Given the description of an element on the screen output the (x, y) to click on. 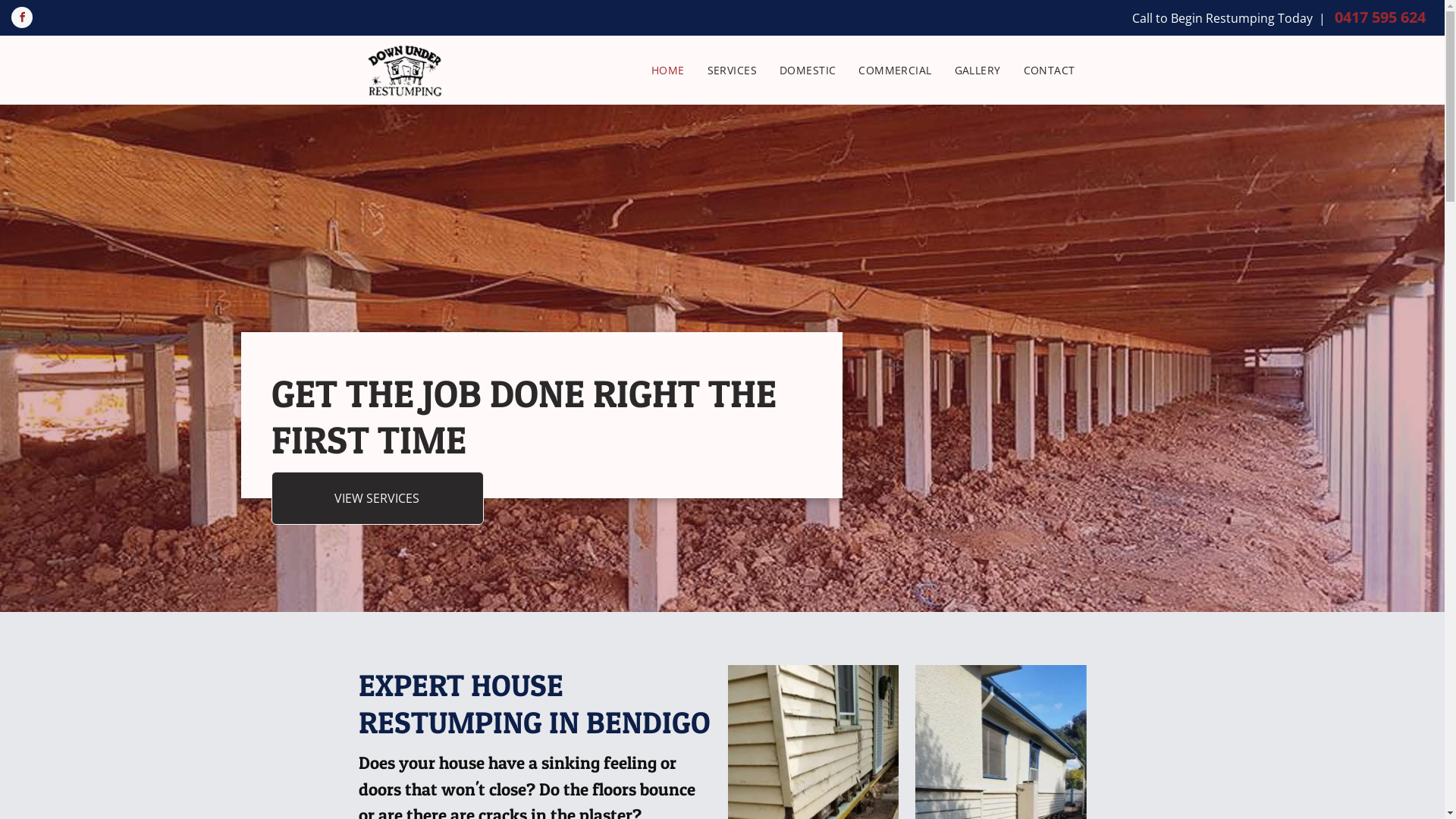
0417 595 624 Element type: text (1379, 16)
COMMERCIAL Element type: text (894, 69)
VIEW SERVICES Element type: text (377, 497)
GALLERY Element type: text (977, 69)
Down under restumping logo Element type: hover (403, 70)
SERVICES Element type: text (732, 69)
DOMESTIC Element type: text (807, 69)
HOME Element type: text (668, 69)
CONTACT Element type: text (1049, 69)
